Given the description of an element on the screen output the (x, y) to click on. 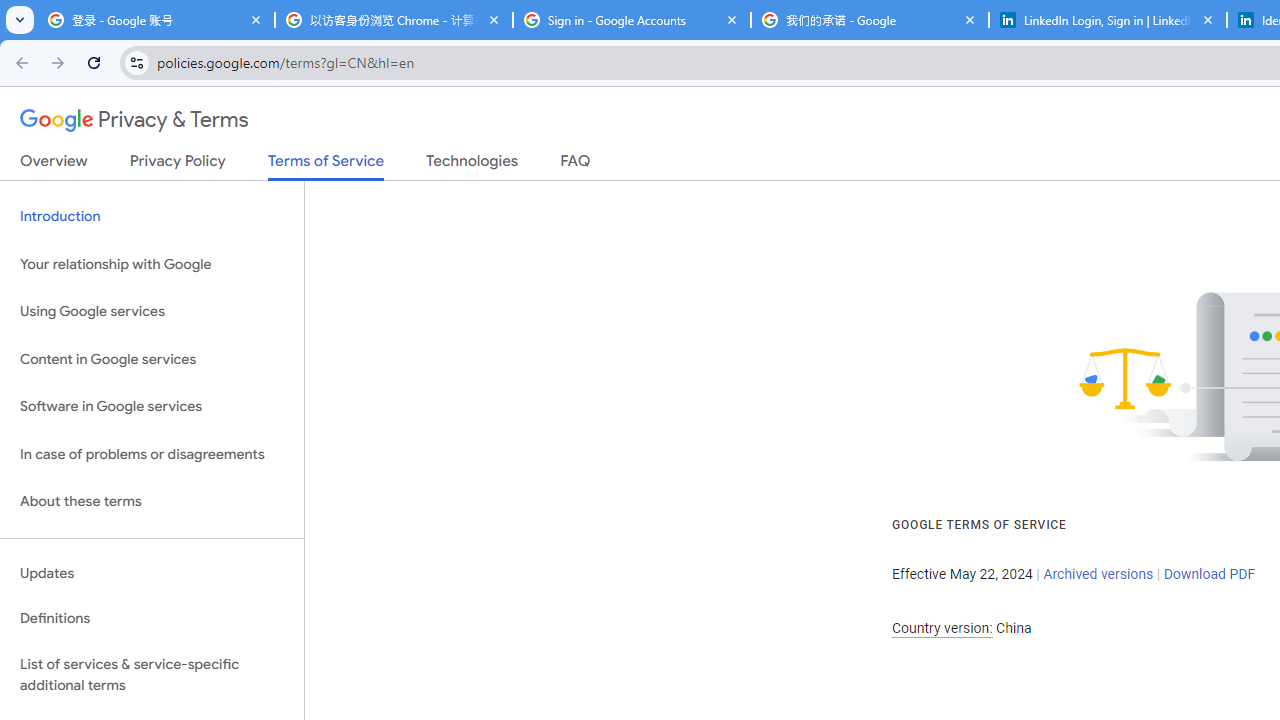
List of services & service-specific additional terms (152, 674)
Your relationship with Google (152, 263)
Download PDF (1209, 574)
Software in Google services (152, 407)
About these terms (152, 502)
Archived versions (1098, 574)
